Given the description of an element on the screen output the (x, y) to click on. 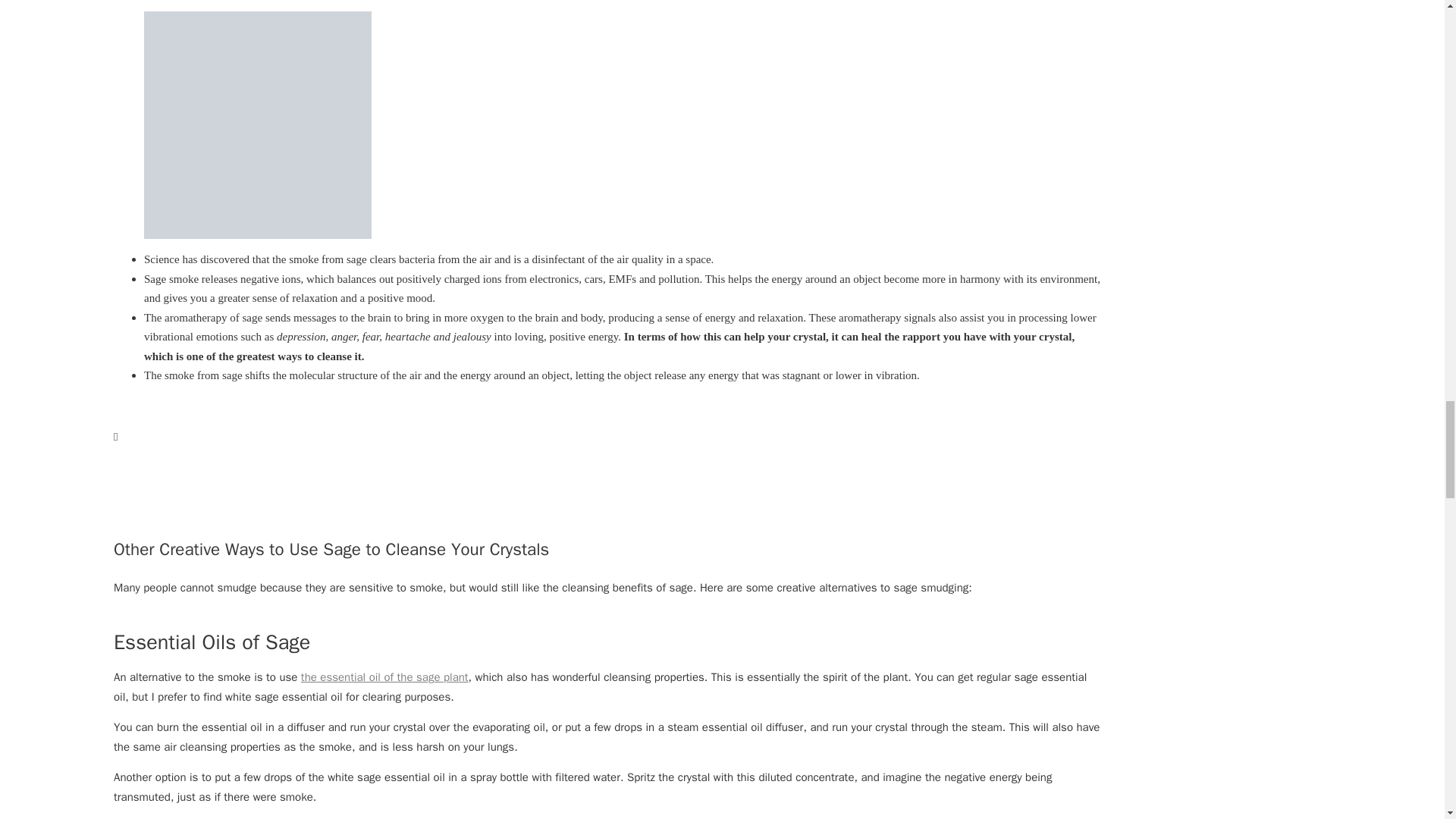
the essential oil of the sage plant (384, 676)
